Given the description of an element on the screen output the (x, y) to click on. 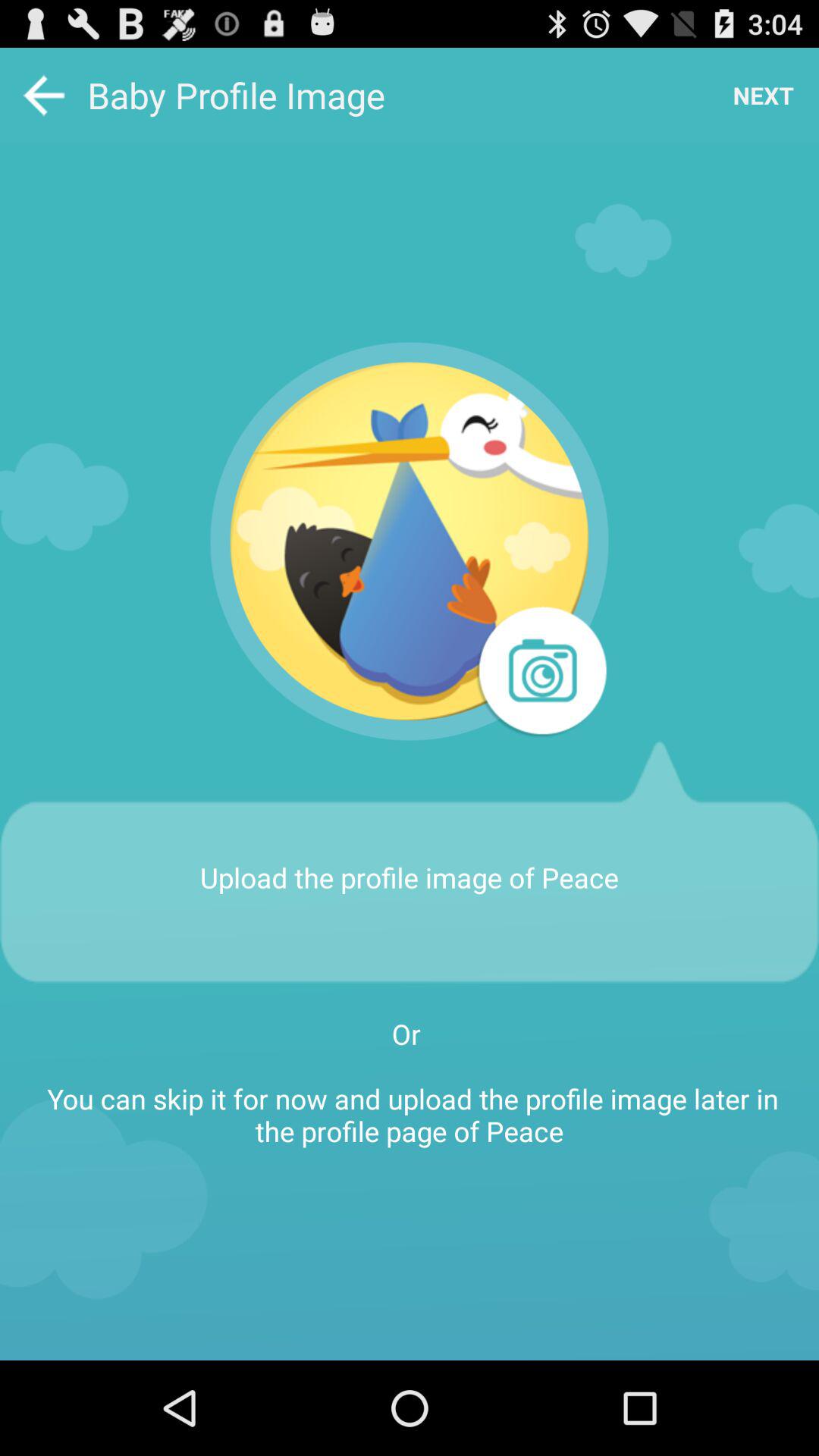
choose picture to upload (409, 541)
